Given the description of an element on the screen output the (x, y) to click on. 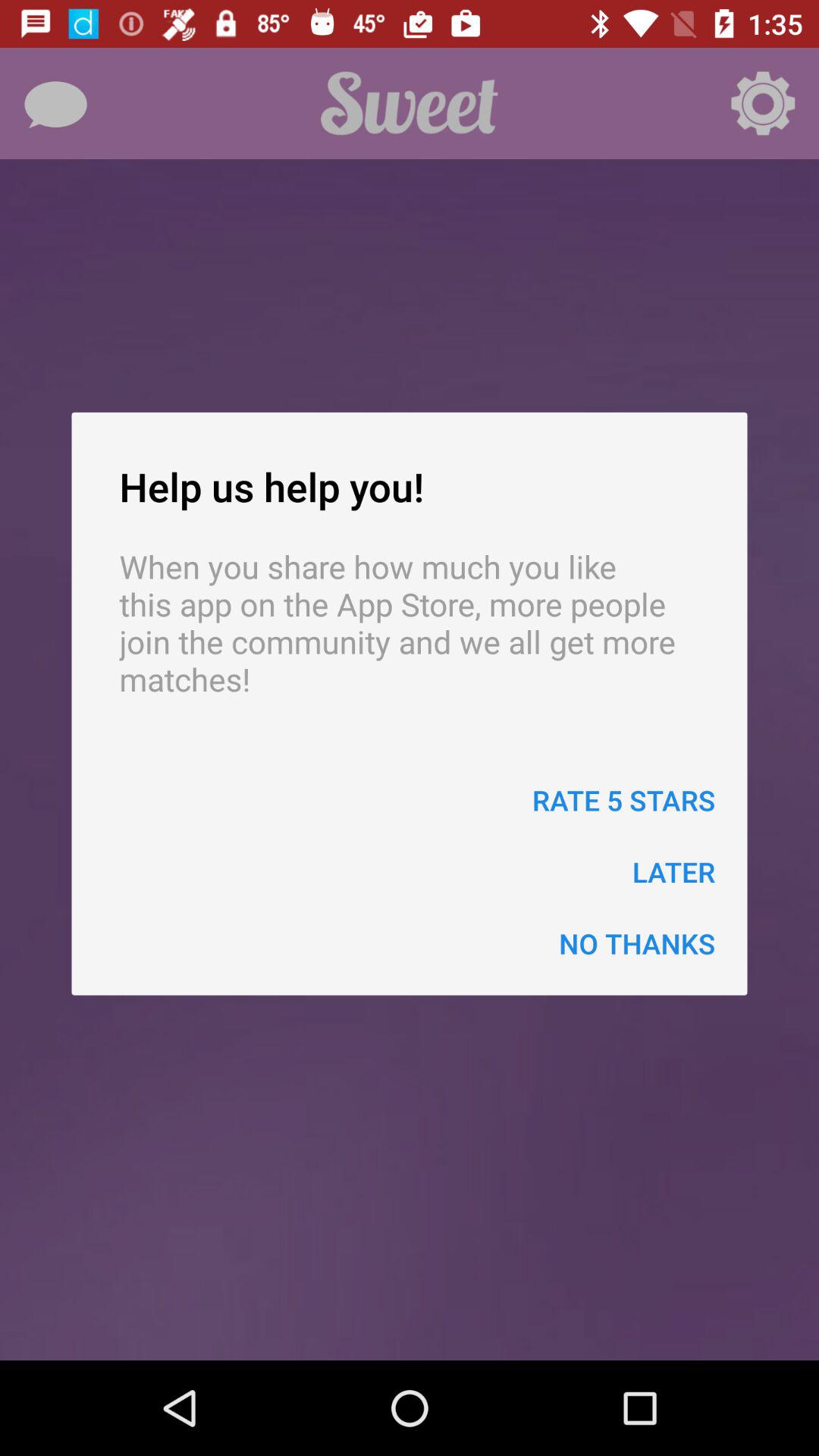
press the item below the rate 5 stars (673, 871)
